Given the description of an element on the screen output the (x, y) to click on. 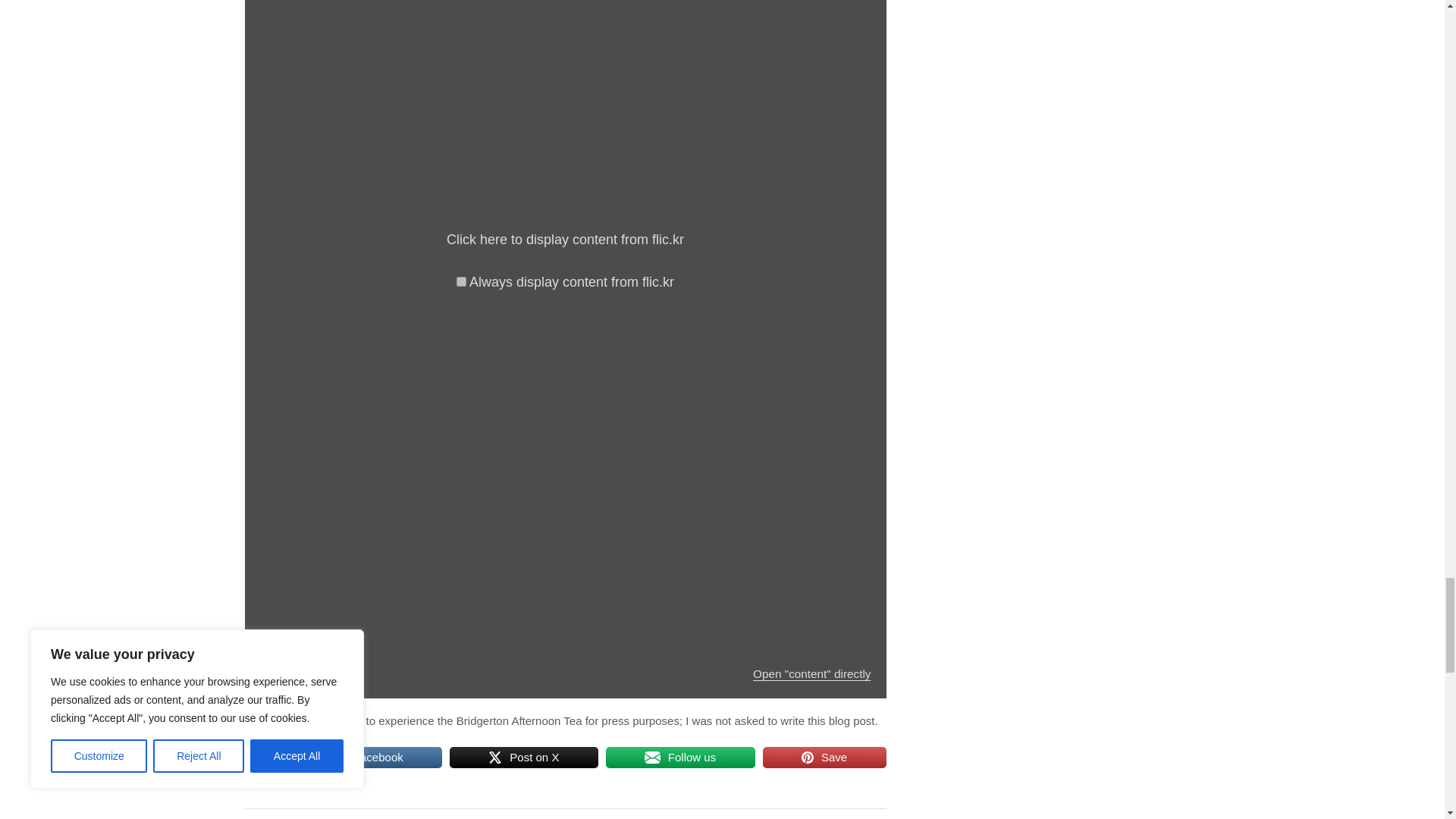
1 (461, 281)
